Given the description of an element on the screen output the (x, y) to click on. 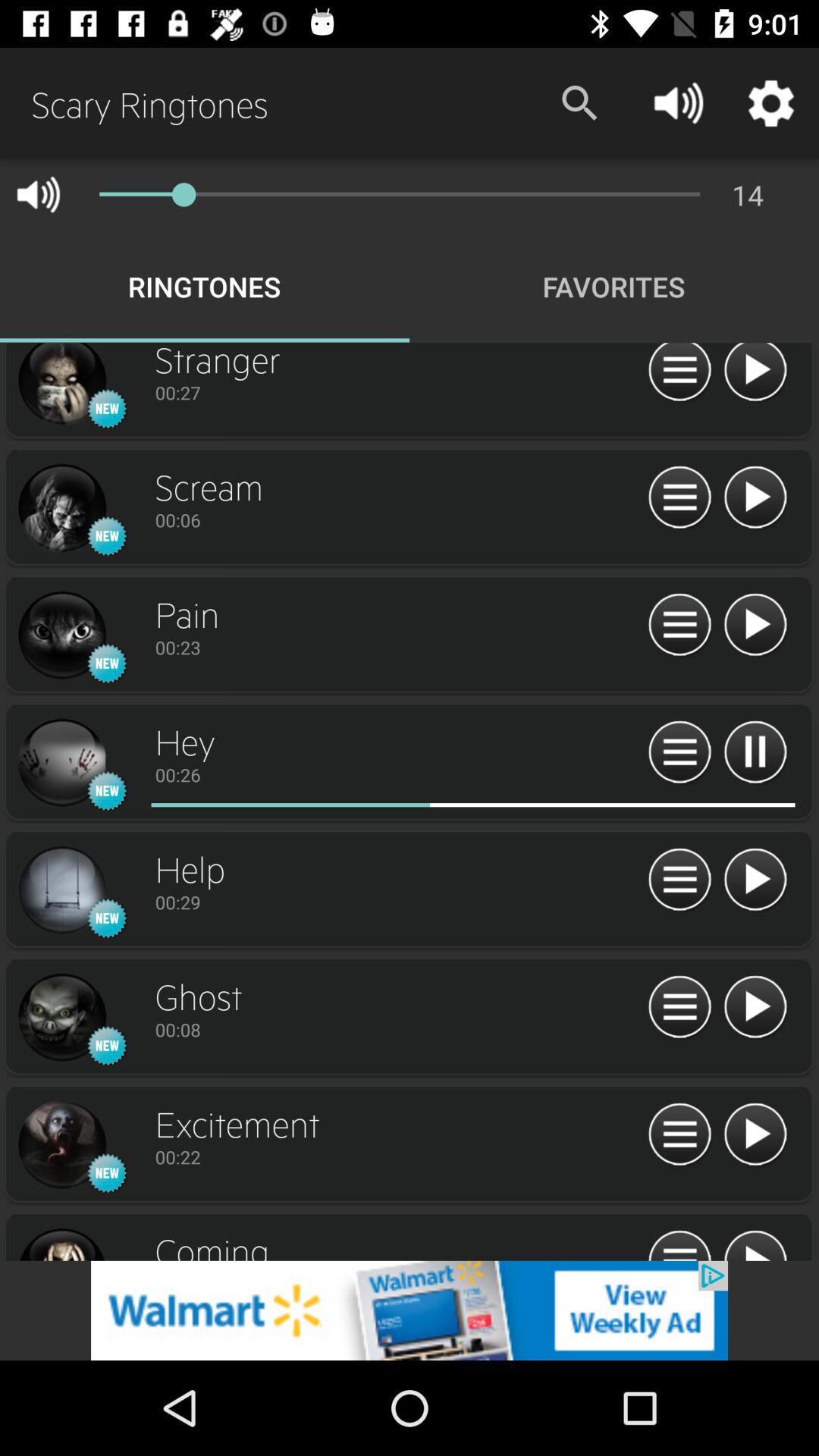
go to artists page (61, 385)
